Given the description of an element on the screen output the (x, y) to click on. 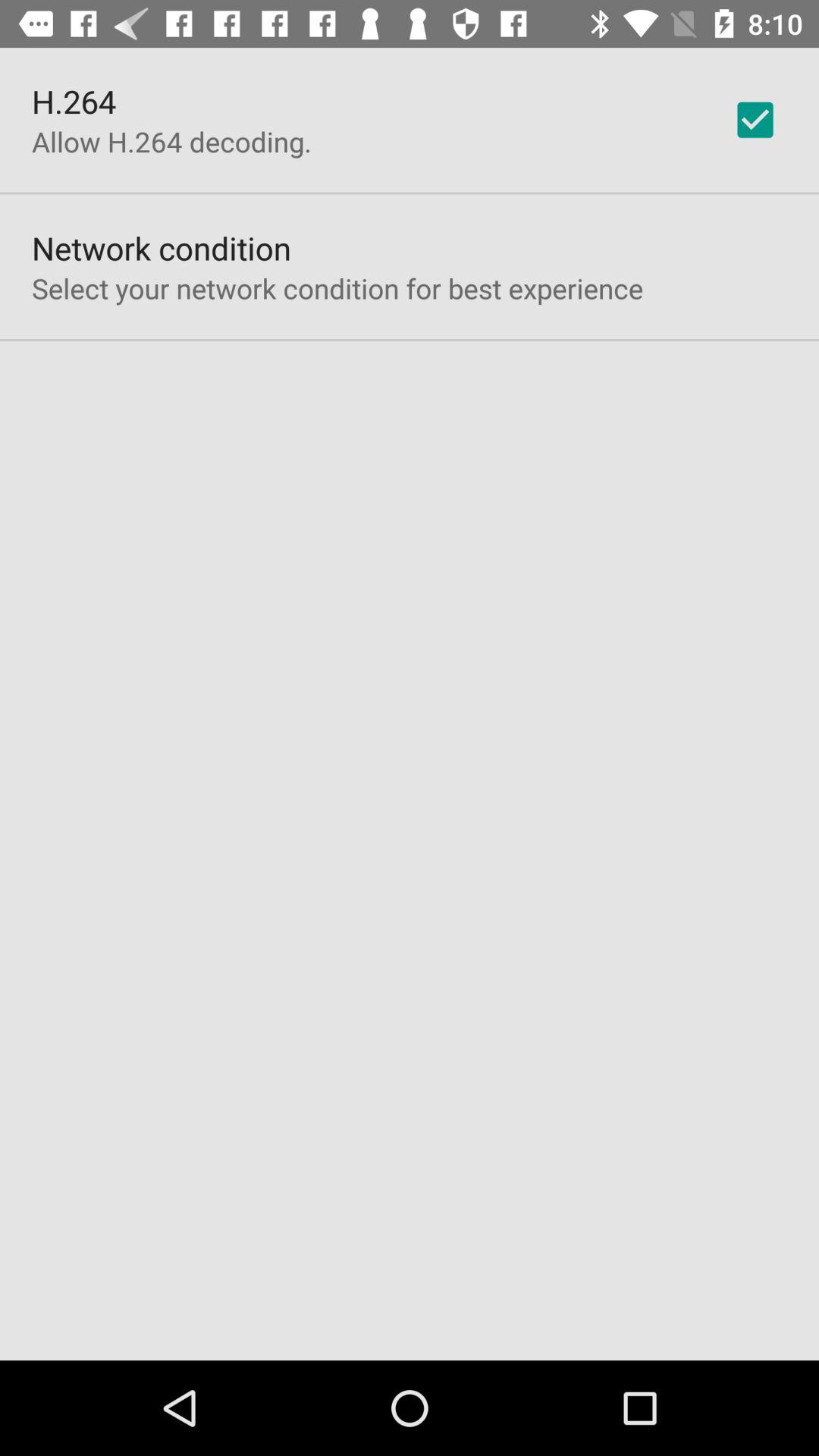
choose checkbox at the top right corner (755, 119)
